Given the description of an element on the screen output the (x, y) to click on. 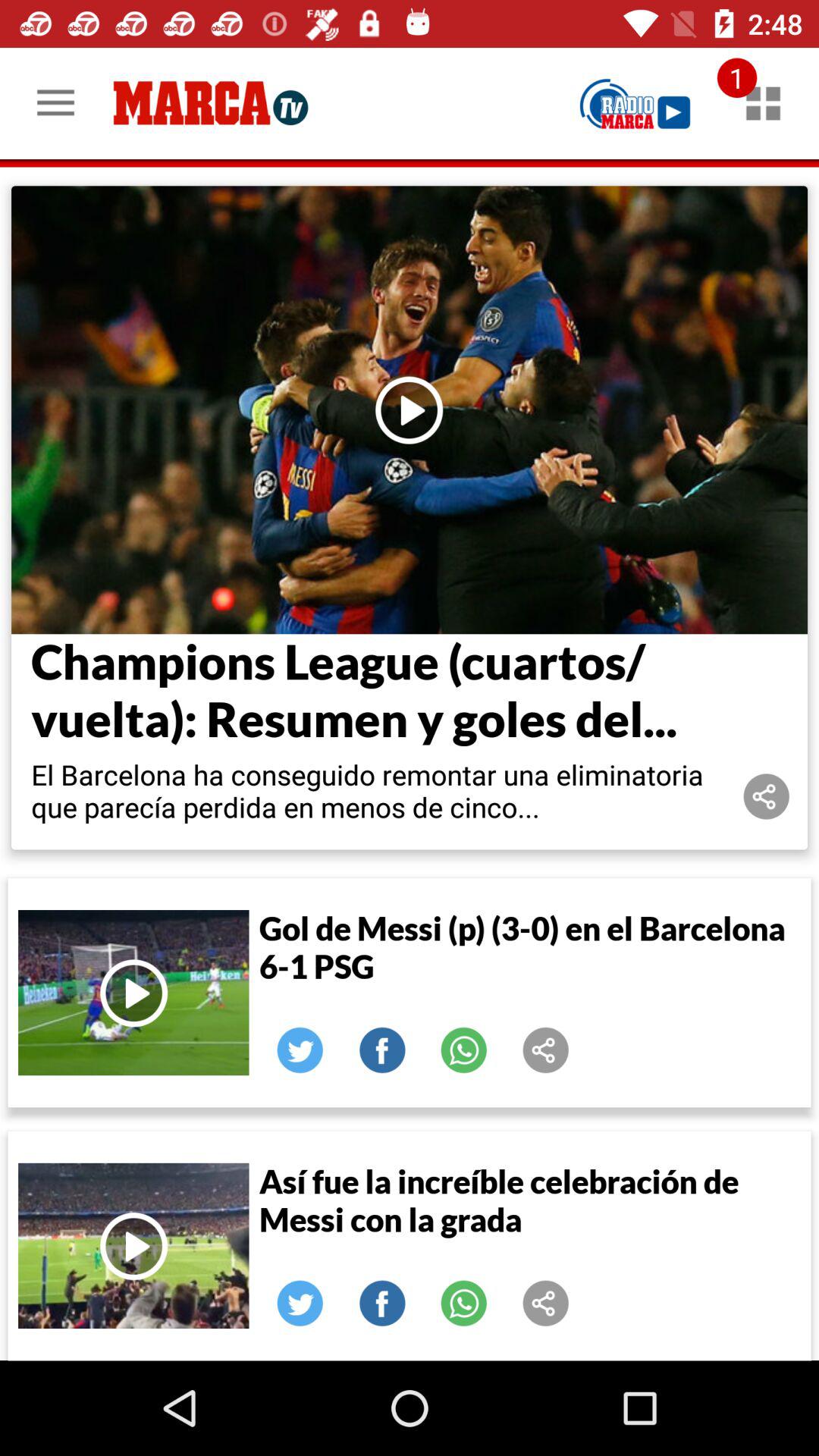
play the video (409, 409)
